Given the description of an element on the screen output the (x, y) to click on. 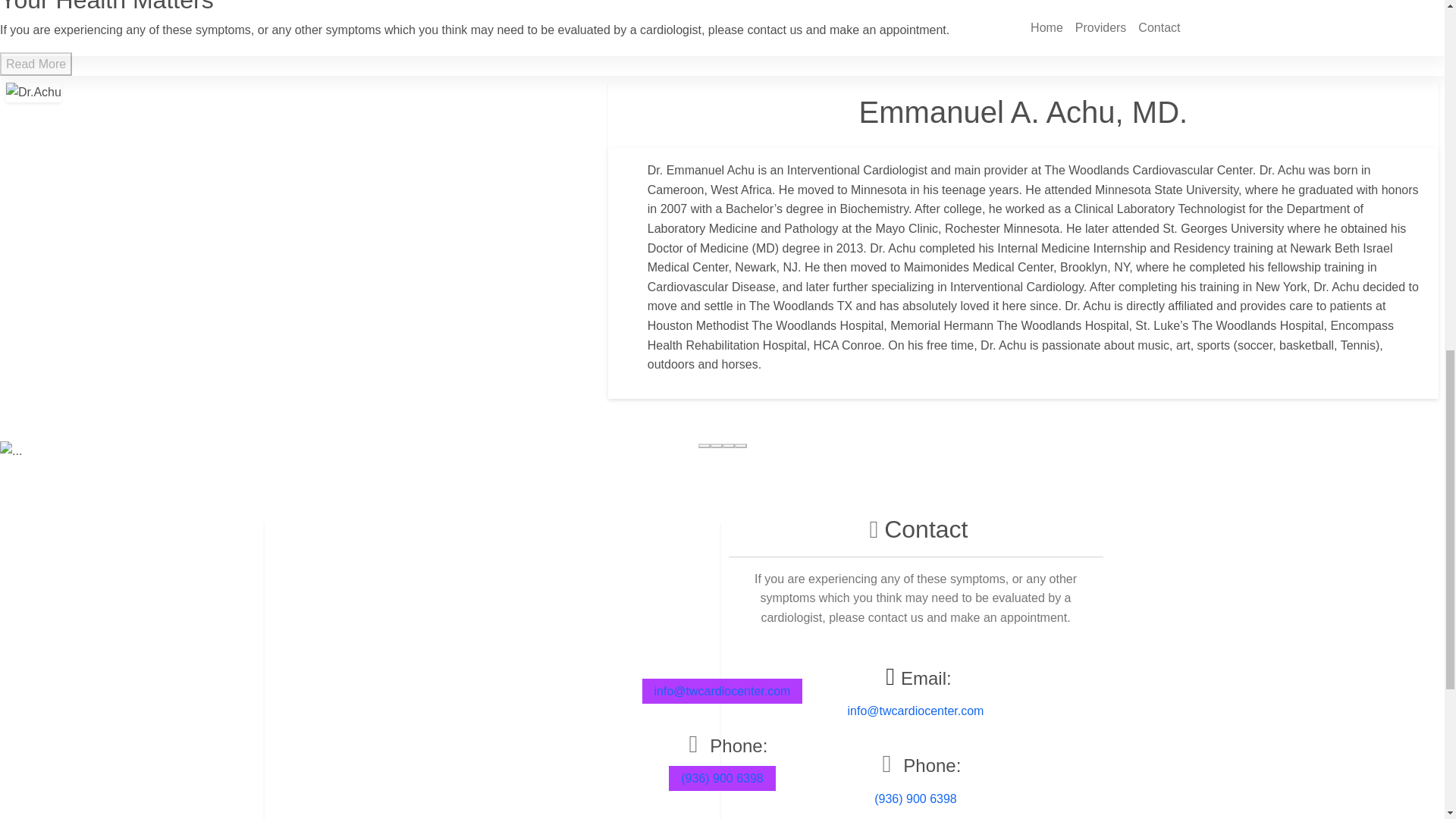
Previous (108, 451)
Read More (35, 63)
Read More (35, 64)
